Given the description of an element on the screen output the (x, y) to click on. 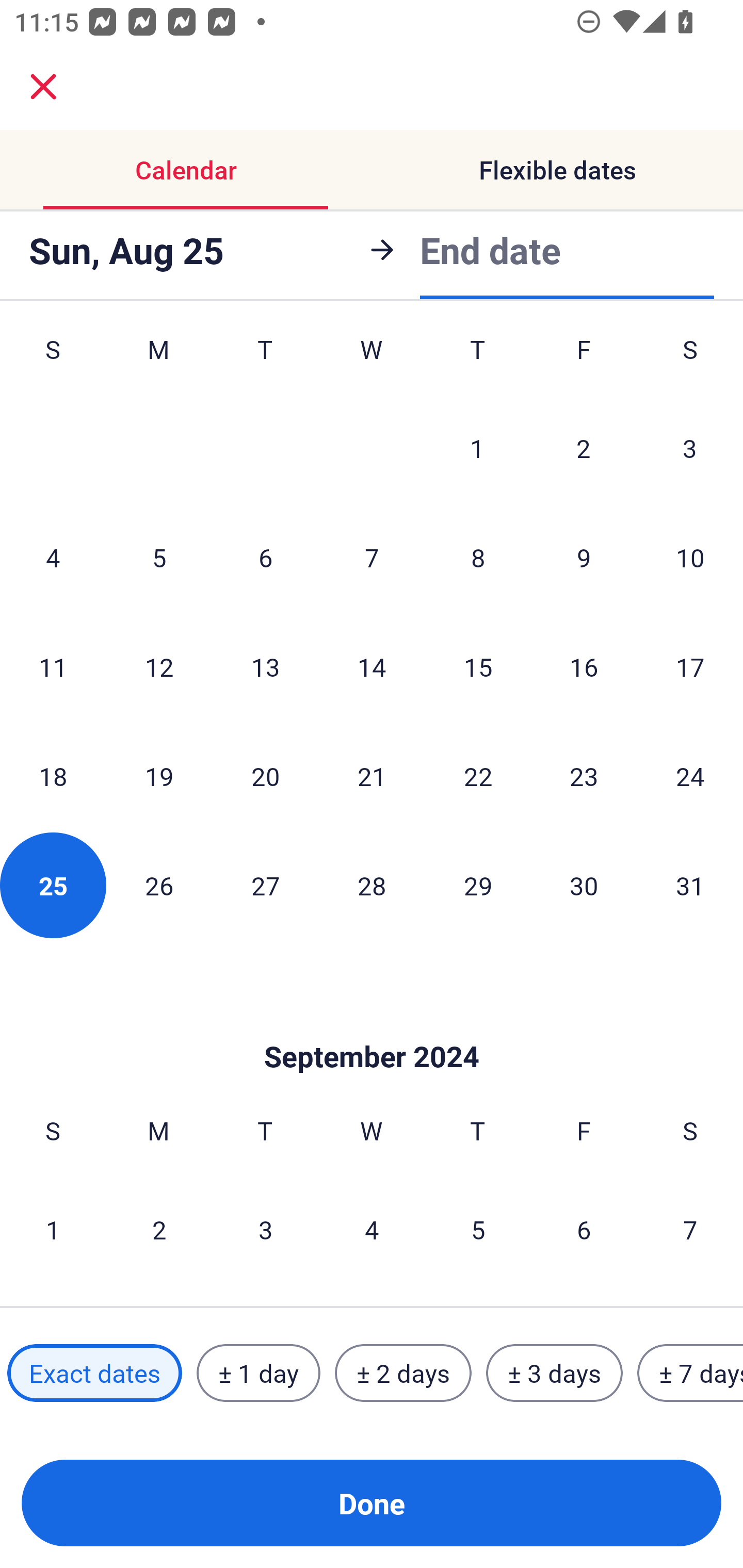
close. (43, 86)
Flexible dates (557, 170)
End date (489, 249)
1 Thursday, August 1, 2024 (477, 447)
2 Friday, August 2, 2024 (583, 447)
3 Saturday, August 3, 2024 (689, 447)
4 Sunday, August 4, 2024 (53, 556)
5 Monday, August 5, 2024 (159, 556)
6 Tuesday, August 6, 2024 (265, 556)
7 Wednesday, August 7, 2024 (371, 556)
8 Thursday, August 8, 2024 (477, 556)
9 Friday, August 9, 2024 (584, 556)
10 Saturday, August 10, 2024 (690, 556)
11 Sunday, August 11, 2024 (53, 666)
12 Monday, August 12, 2024 (159, 666)
13 Tuesday, August 13, 2024 (265, 666)
14 Wednesday, August 14, 2024 (371, 666)
15 Thursday, August 15, 2024 (477, 666)
16 Friday, August 16, 2024 (584, 666)
17 Saturday, August 17, 2024 (690, 666)
18 Sunday, August 18, 2024 (53, 775)
19 Monday, August 19, 2024 (159, 775)
20 Tuesday, August 20, 2024 (265, 775)
21 Wednesday, August 21, 2024 (371, 775)
22 Thursday, August 22, 2024 (477, 775)
23 Friday, August 23, 2024 (584, 775)
24 Saturday, August 24, 2024 (690, 775)
26 Monday, August 26, 2024 (159, 884)
27 Tuesday, August 27, 2024 (265, 884)
28 Wednesday, August 28, 2024 (371, 884)
29 Thursday, August 29, 2024 (477, 884)
30 Friday, August 30, 2024 (584, 884)
31 Saturday, August 31, 2024 (690, 884)
Skip to Done (371, 1026)
1 Sunday, September 1, 2024 (53, 1229)
2 Monday, September 2, 2024 (159, 1229)
3 Tuesday, September 3, 2024 (265, 1229)
4 Wednesday, September 4, 2024 (371, 1229)
5 Thursday, September 5, 2024 (477, 1229)
6 Friday, September 6, 2024 (584, 1229)
7 Saturday, September 7, 2024 (690, 1229)
Exact dates (94, 1372)
± 1 day (258, 1372)
± 2 days (403, 1372)
± 3 days (553, 1372)
± 7 days (690, 1372)
Done (371, 1502)
